Given the description of an element on the screen output the (x, y) to click on. 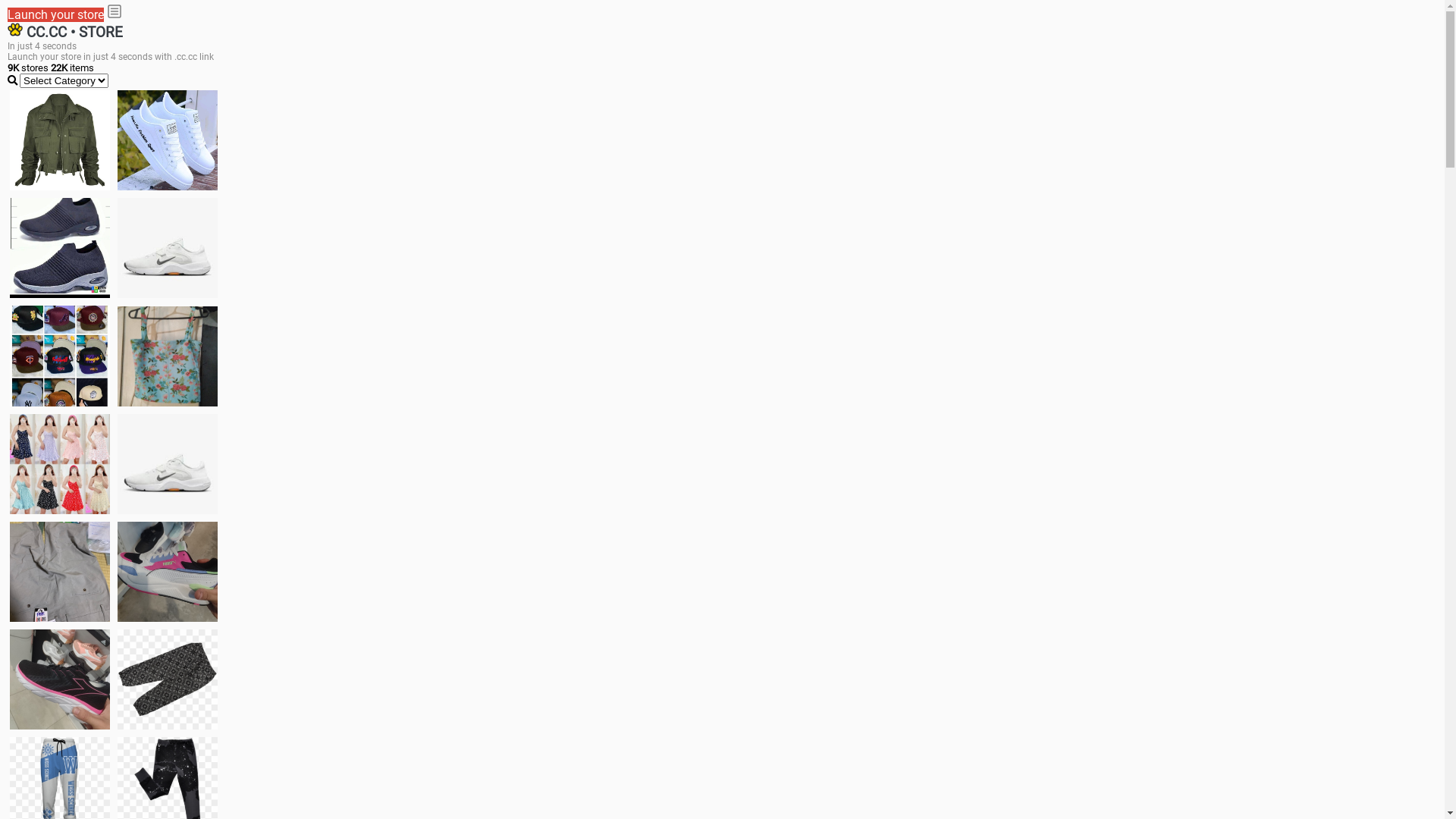
Zapatillas pumas Element type: hover (167, 571)
white shoes Element type: hover (167, 140)
Zapatillas Element type: hover (59, 679)
Dress/square nect top Element type: hover (59, 464)
Shoes Element type: hover (167, 464)
shoes for boys Element type: hover (59, 247)
Ukay cloth Element type: hover (167, 356)
Short pant Element type: hover (167, 679)
jacket Element type: hover (59, 140)
Launch your store Element type: text (55, 14)
Shoes for boys Element type: hover (167, 247)
Things we need Element type: hover (59, 355)
